Given the description of an element on the screen output the (x, y) to click on. 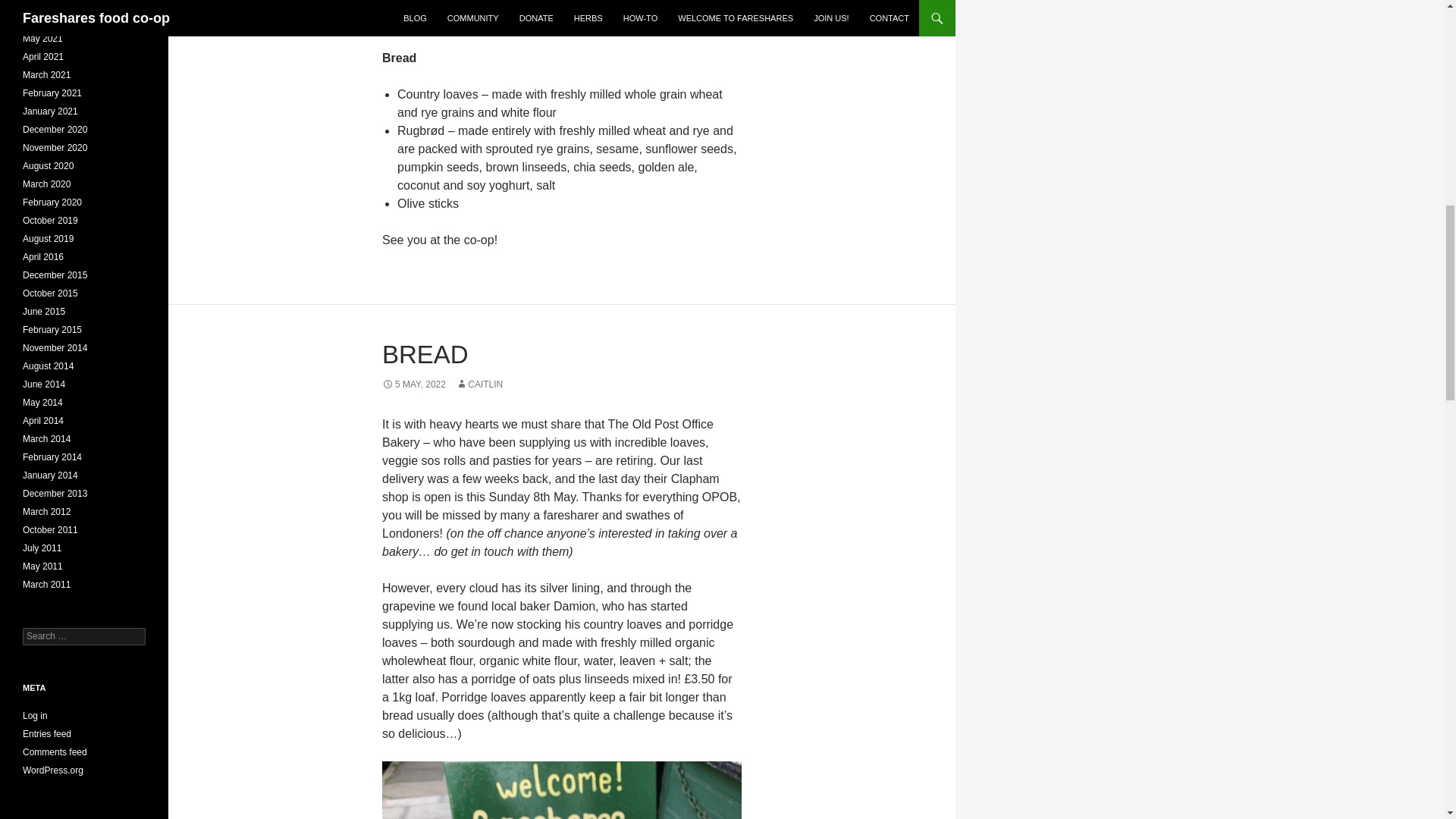
CAITLIN (478, 384)
5 MAY, 2022 (413, 384)
BREAD (424, 354)
